Given the description of an element on the screen output the (x, y) to click on. 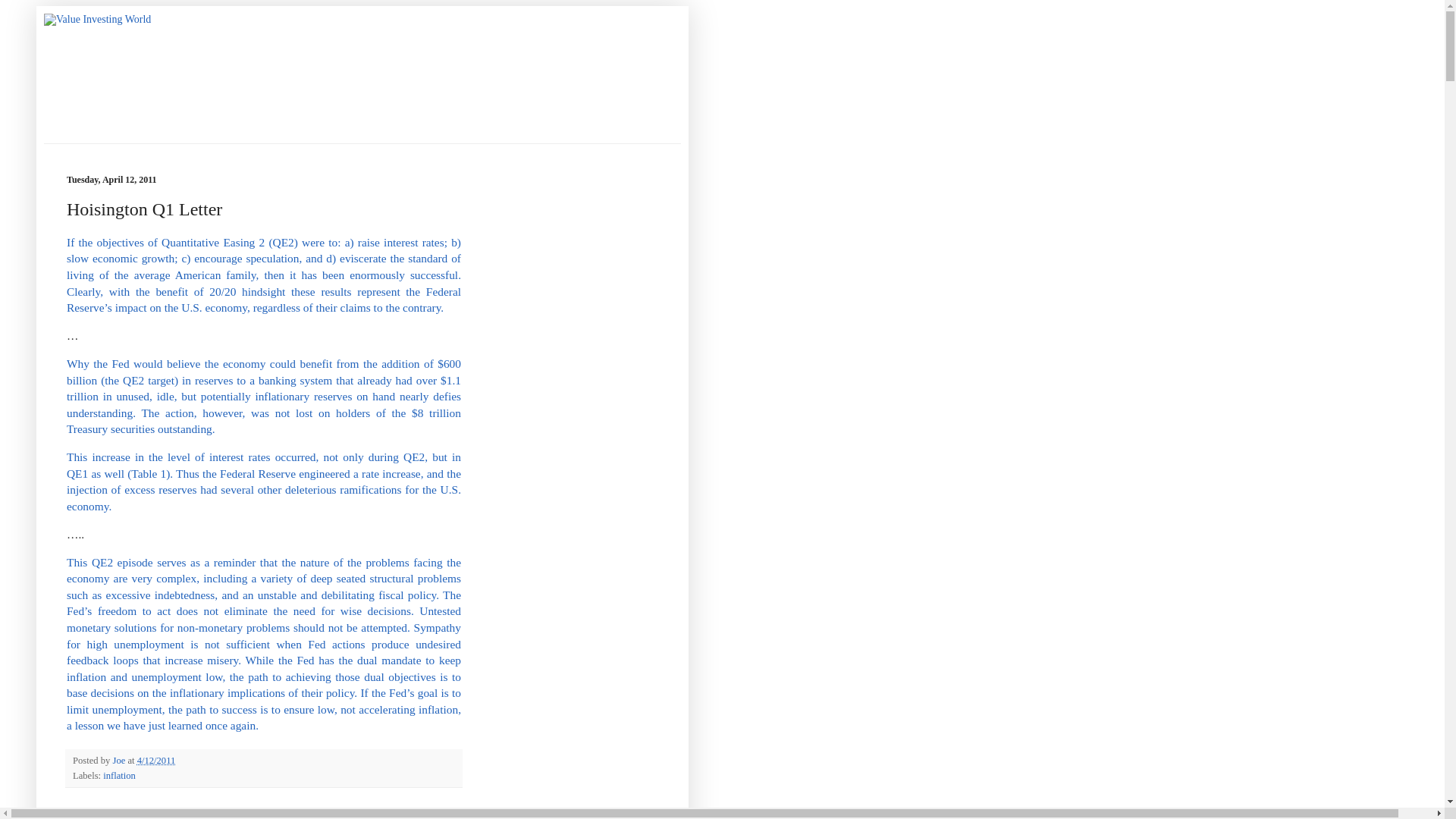
Home (197, 811)
Older Post (152, 811)
inflation (119, 775)
Newer Post (94, 811)
Joe (120, 760)
Newer Post (94, 811)
permanent link (156, 760)
Older Post (152, 811)
author profile (120, 760)
